Given the description of an element on the screen output the (x, y) to click on. 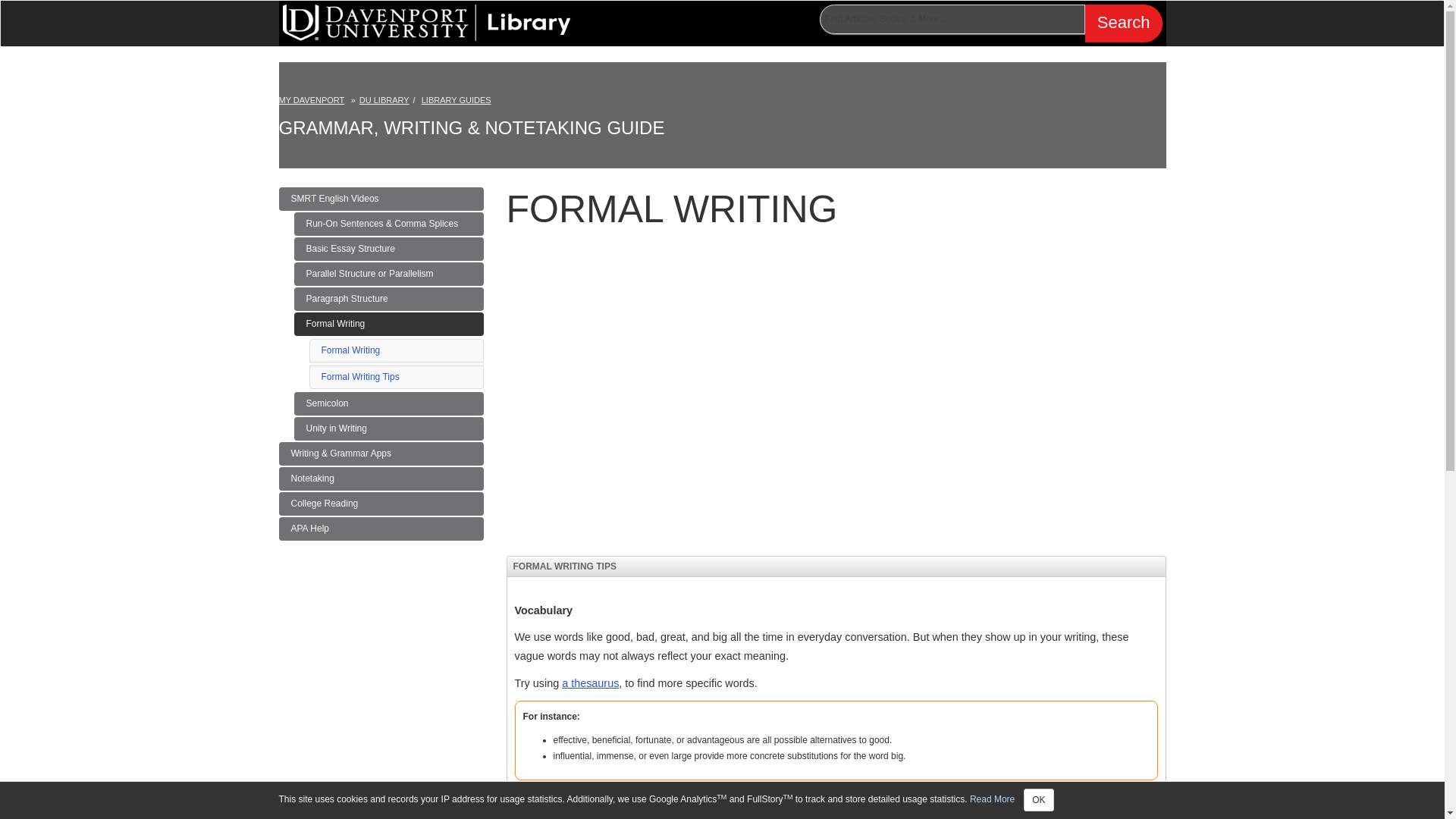
Search (1122, 22)
Search (1122, 22)
Formal Writing (388, 323)
Searches DU Library's articles, books, and more (990, 22)
Davenport University Library Home (426, 20)
LIBRARY GUIDES (457, 99)
Parallel Structure or Parallelism (388, 273)
Semicolon (388, 403)
College Reading (381, 503)
Formal Writing (381, 528)
a thesaurus (350, 349)
Basic Essay Structure (590, 683)
DU LIBRARY (388, 249)
OK (384, 99)
